Given the description of an element on the screen output the (x, y) to click on. 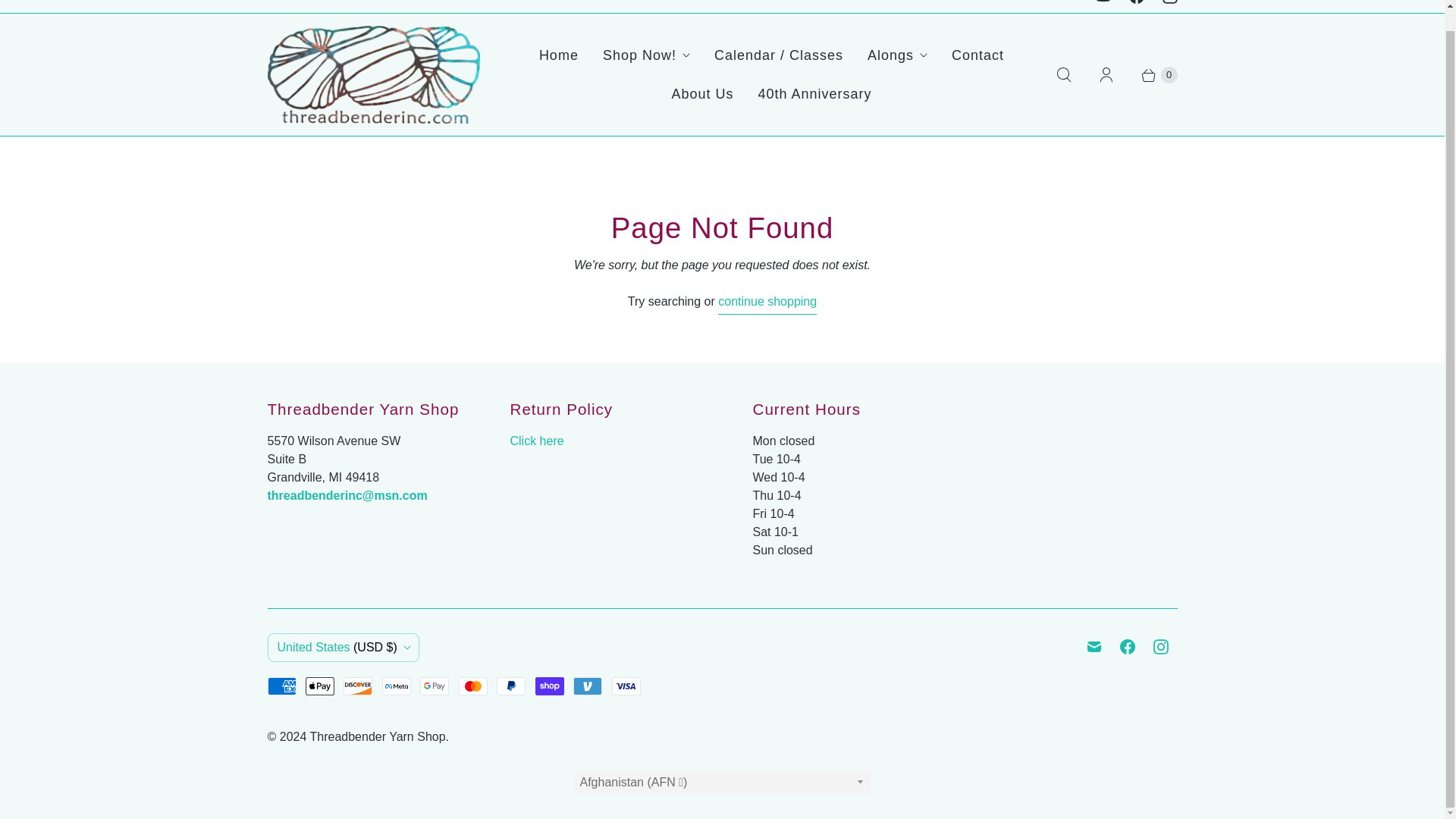
Contact (977, 55)
0 (1151, 74)
Mastercard (472, 686)
American Express (280, 686)
Google Pay (434, 686)
Visa (625, 686)
About Us (702, 94)
PayPal (510, 686)
Shop Pay (549, 686)
40th Anniversary (814, 94)
